Given the description of an element on the screen output the (x, y) to click on. 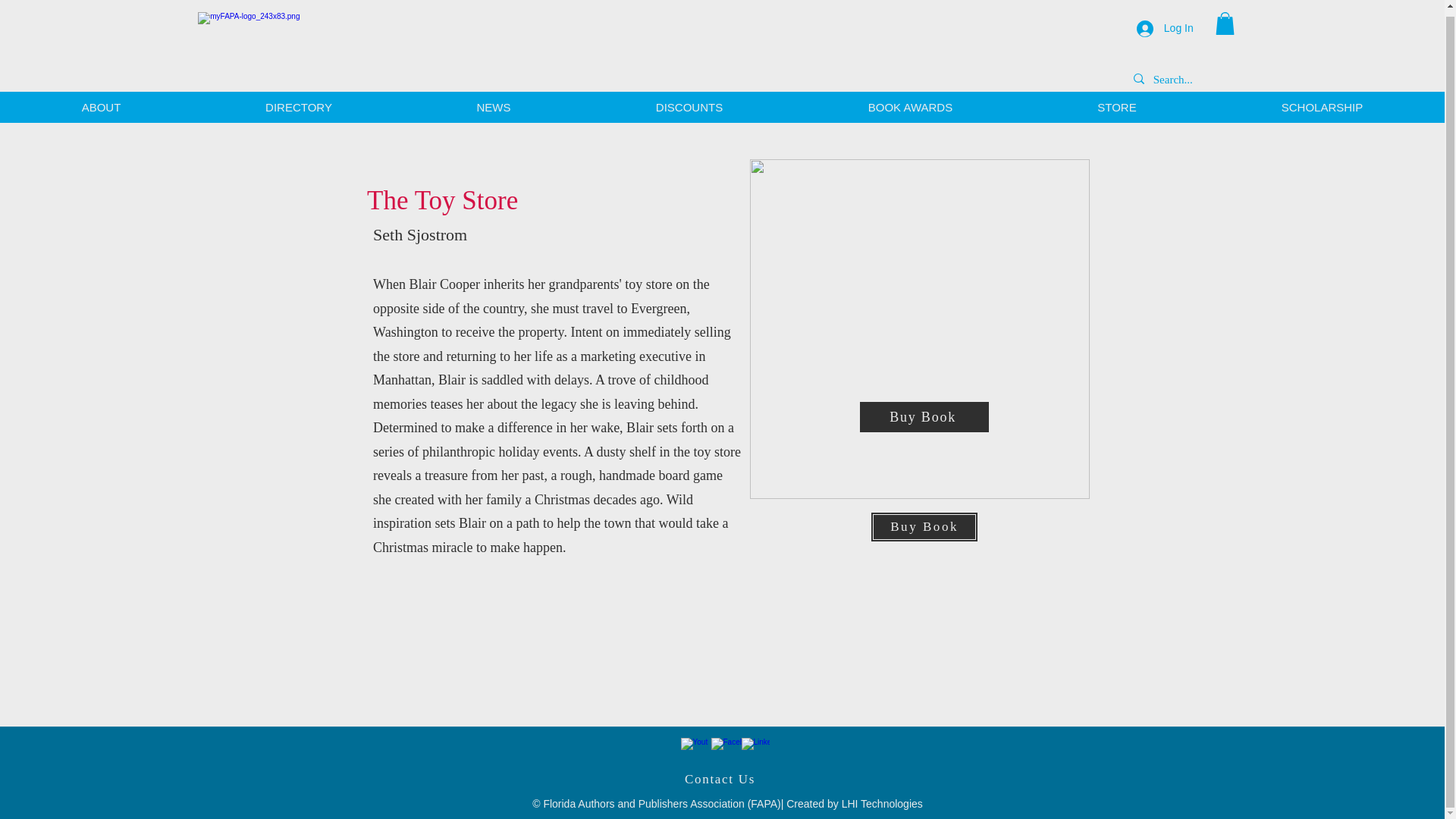
Buy Book (924, 417)
STORE (1116, 101)
BOOK AWARDS (909, 101)
Buy Book (924, 526)
DIRECTORY (298, 101)
SCHOLARSHIP (1321, 101)
ABOUT (100, 101)
NEWS (493, 101)
DISCOUNTS (688, 101)
Log In (1164, 22)
